Given the description of an element on the screen output the (x, y) to click on. 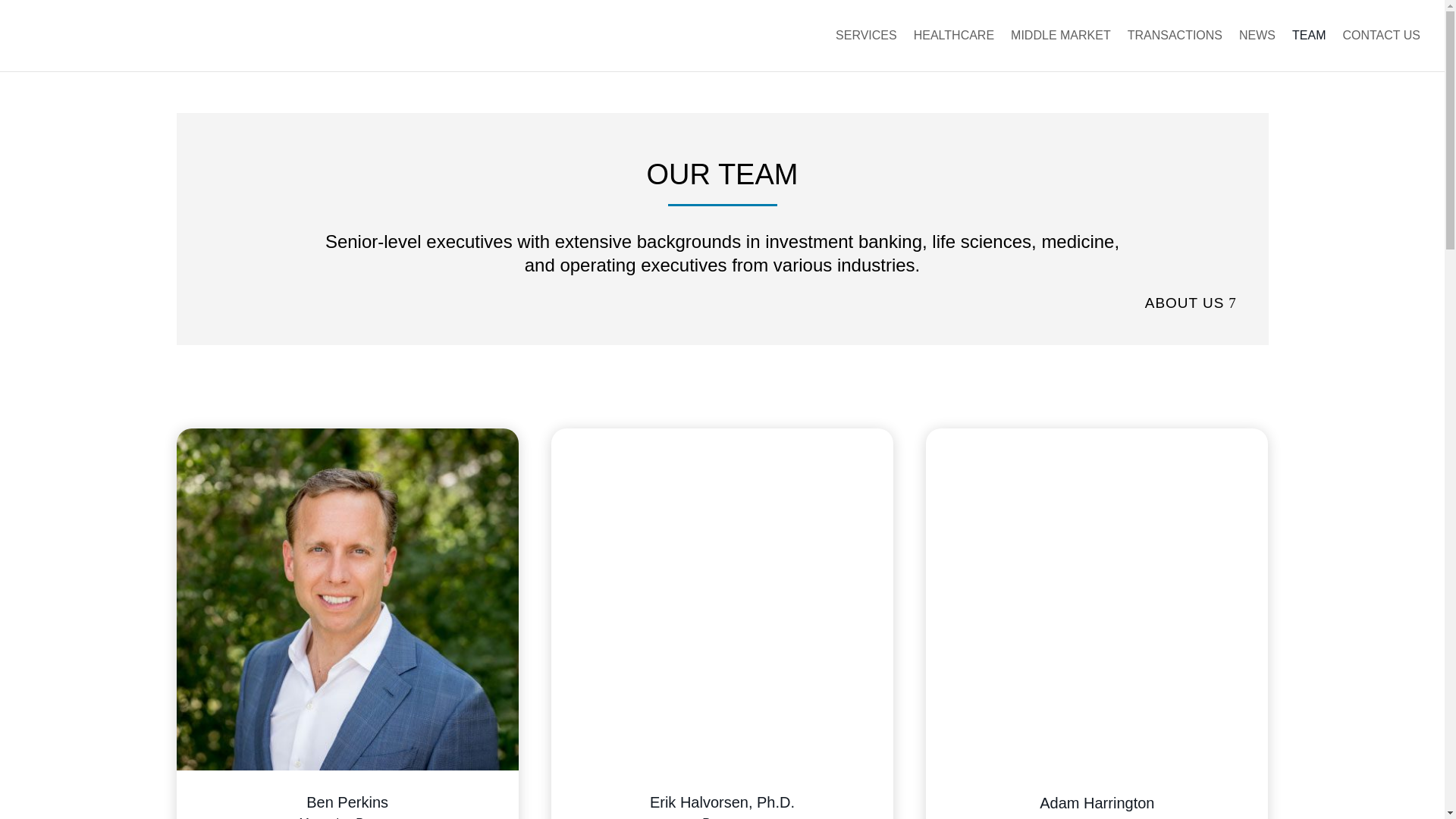
ABOUT US (1193, 303)
ben (347, 599)
MIDDLE MARKET (1060, 50)
NEWS (1257, 50)
CONTACT US (1381, 50)
TRANSACTIONS (1174, 50)
SERVICES (865, 50)
HEALTHCARE (954, 50)
